Given the description of an element on the screen output the (x, y) to click on. 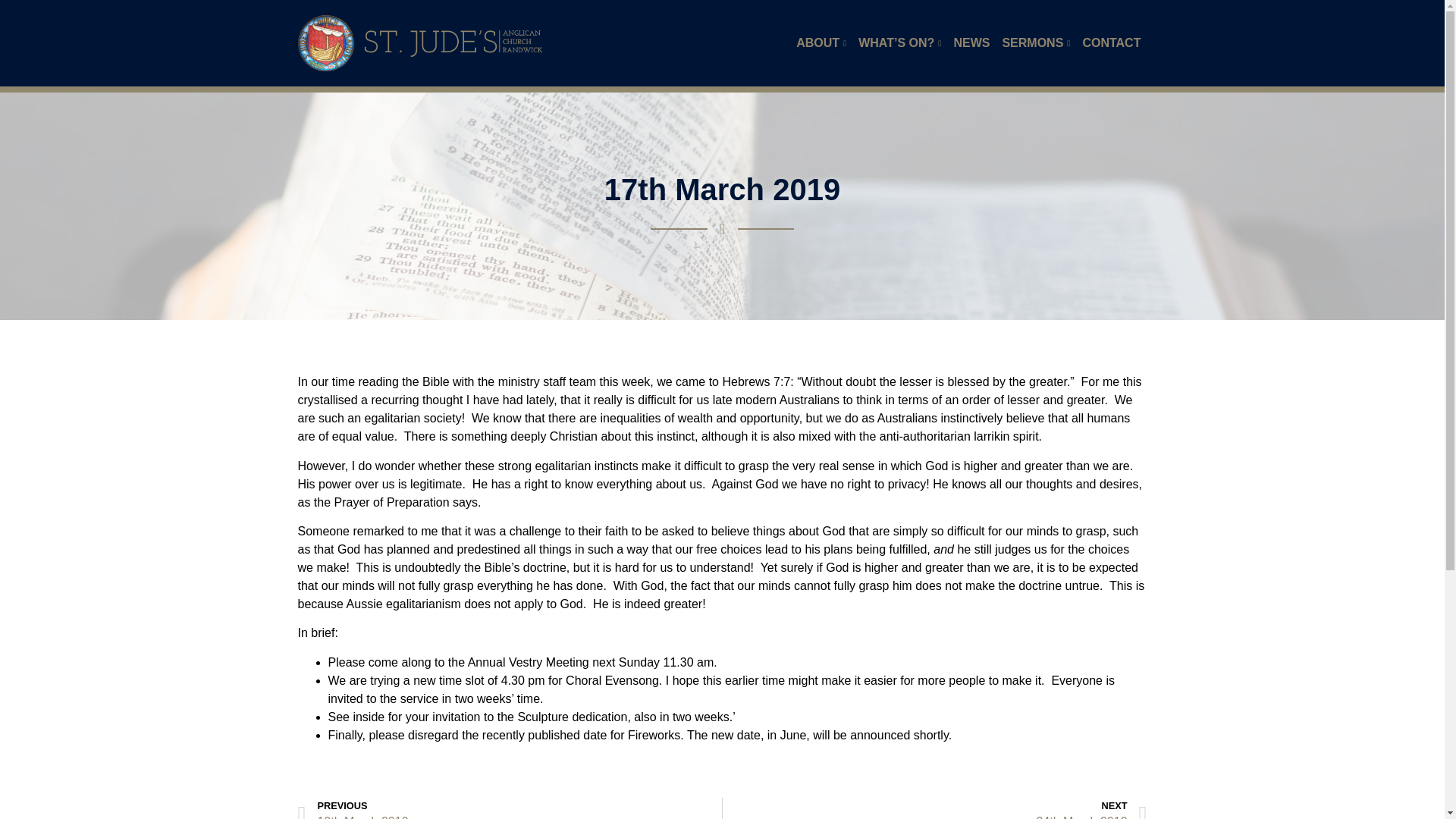
NEWS (971, 42)
CONTACT (1111, 42)
SERMONS (1035, 42)
ABOUT (820, 42)
